Given the description of an element on the screen output the (x, y) to click on. 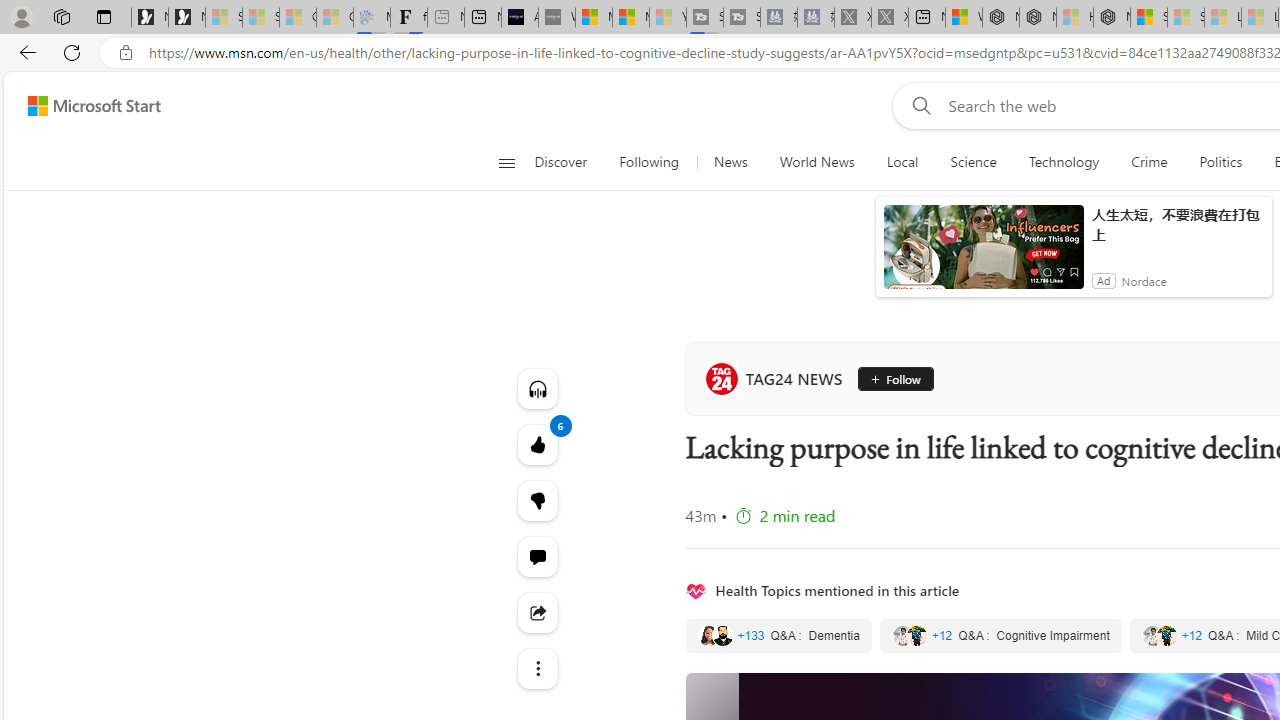
Technology (1063, 162)
Science (973, 162)
Skip to content (86, 105)
Follow (895, 378)
Dementia (777, 636)
Cognitive Impairment (1000, 636)
Crime (1149, 162)
